Given the description of an element on the screen output the (x, y) to click on. 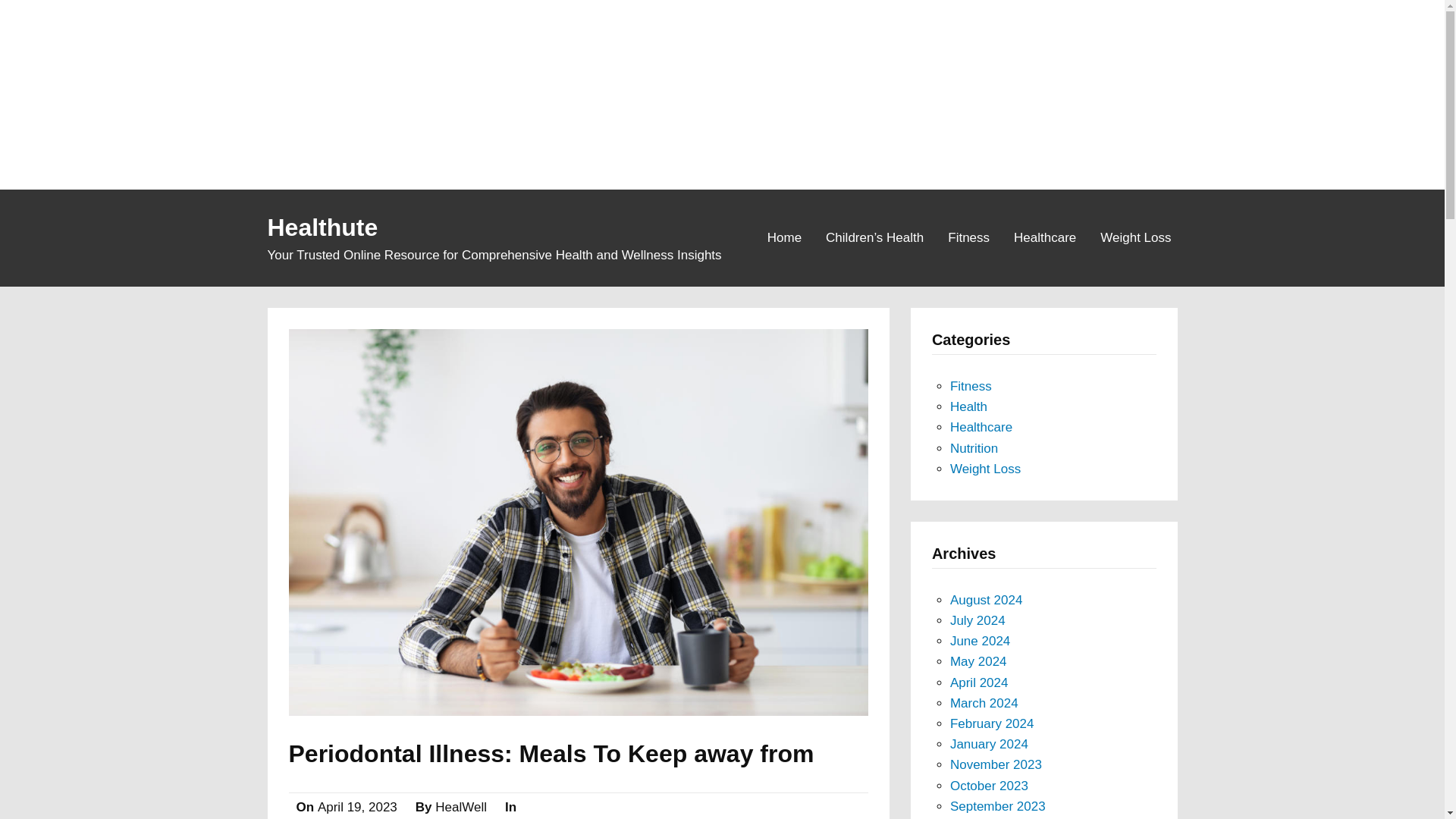
July 2024 (978, 620)
June 2024 (980, 640)
January 2024 (988, 744)
Fitness (968, 237)
Healthcare (980, 427)
October 2023 (988, 785)
November 2023 (996, 764)
May 2024 (978, 661)
Health (968, 406)
August 2024 (986, 599)
